Given the description of an element on the screen output the (x, y) to click on. 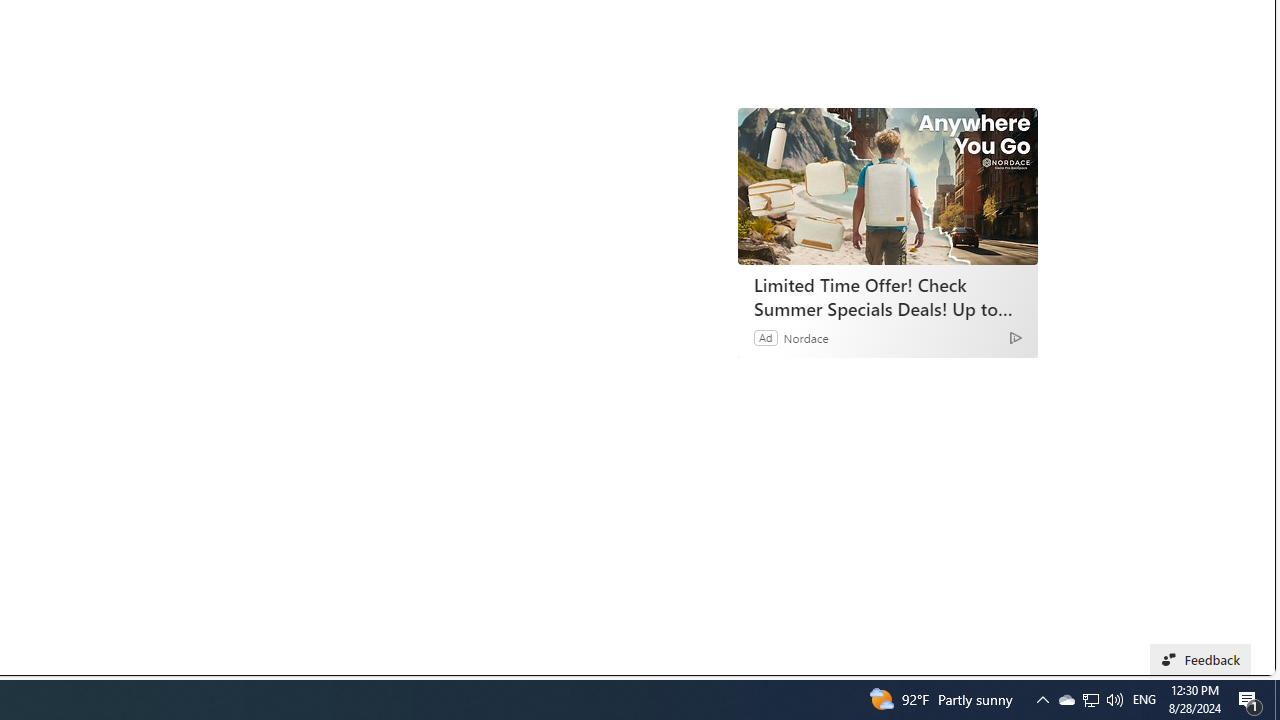
Limited Time Offer! Check Summer Specials Deals! Up to -55%! (888, 186)
Limited Time Offer! Check Summer Specials Deals! Up to -55%! (887, 296)
